Given the description of an element on the screen output the (x, y) to click on. 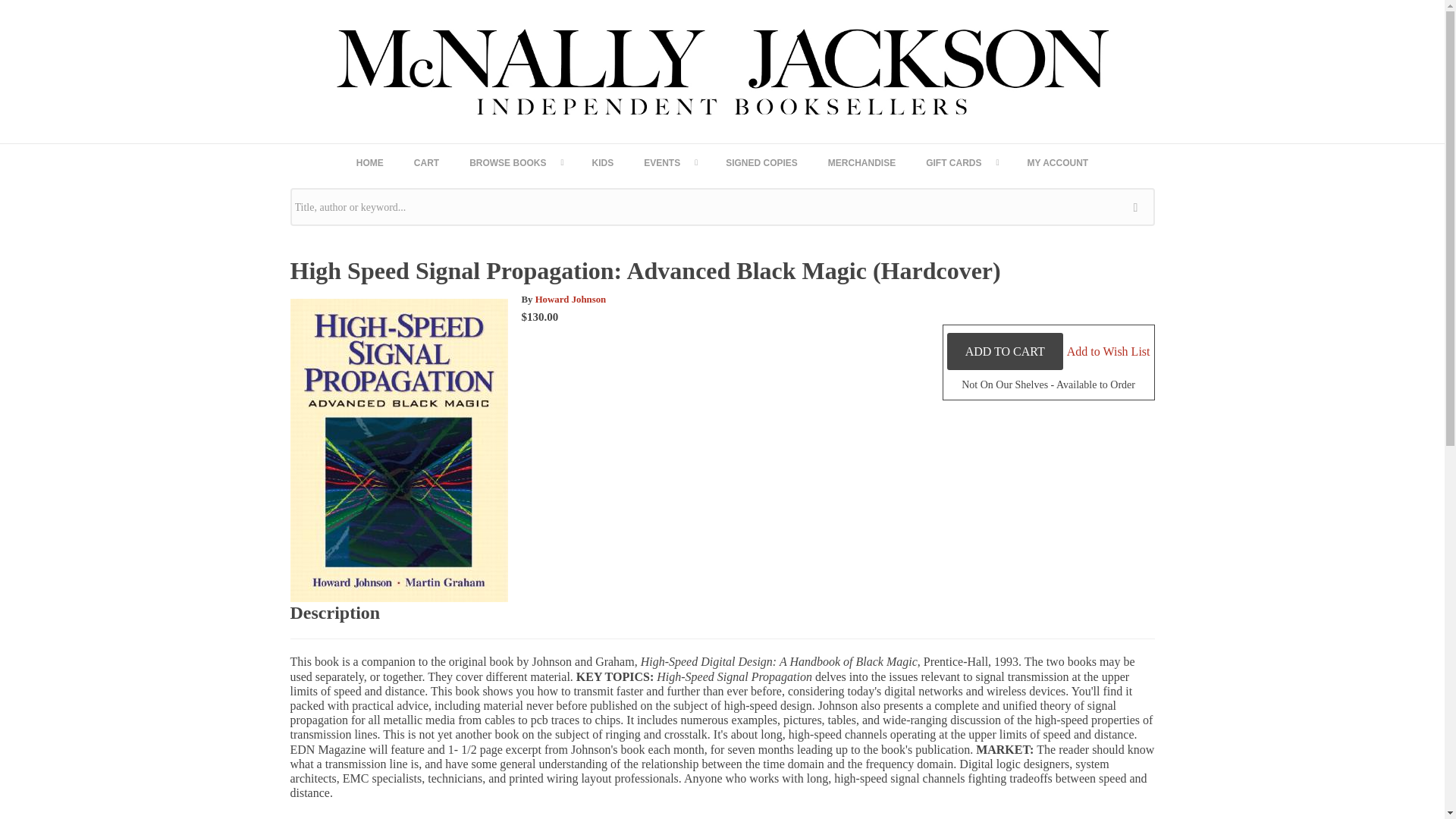
CART (426, 162)
SIGNED COPIES (761, 162)
KIDS (602, 162)
Add to Cart (1004, 351)
Add to Cart (1004, 351)
HOME (369, 162)
Add to Wish List (1108, 350)
Title, author or keyword... (721, 207)
BROWSE BOOKS (515, 162)
EVENTS (669, 162)
